Given the description of an element on the screen output the (x, y) to click on. 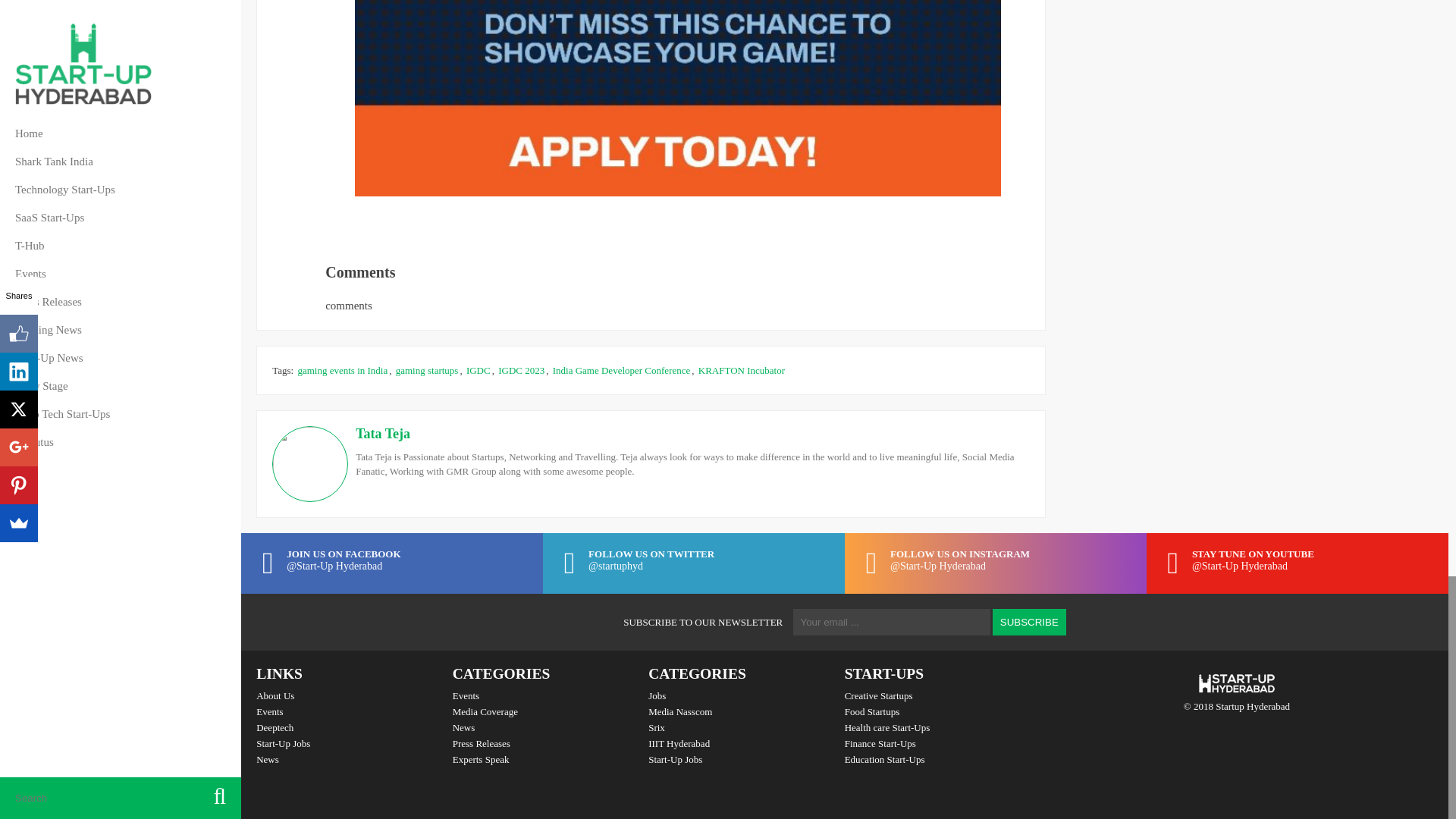
Posts by Tata Teja (382, 433)
gaming events in India (341, 369)
India Game Developer Conference (622, 369)
SUBSCRIBE (1028, 622)
Tata Teja (382, 433)
gaming startups (427, 369)
IGDC 2023 (521, 369)
Advertisement (501, 236)
KRAFTON Incubator (741, 369)
IGDC (478, 369)
